Given the description of an element on the screen output the (x, y) to click on. 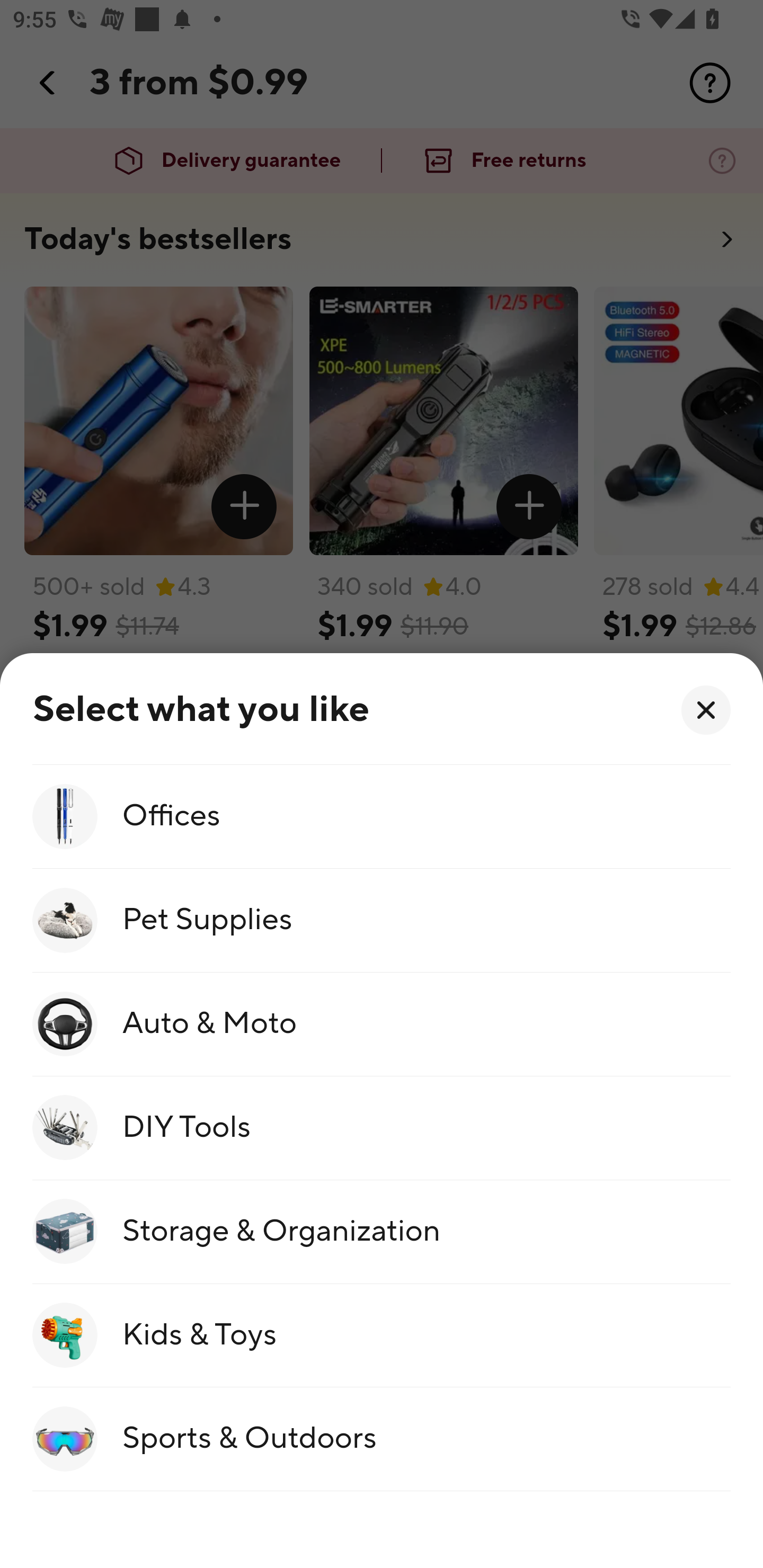
96x96 (705, 710)
300x300.png_ Offices (381, 816)
300x300.png_ Pet Supplies (381, 920)
300x300.png_ Auto & Moto (381, 1024)
300x300.png_ DIY Tools (381, 1127)
300x300.png_ Storage & Organization (381, 1231)
300x300.png_ Kids & Toys (381, 1335)
300x300.png_ Sports & Outdoors (381, 1439)
